Given the description of an element on the screen output the (x, y) to click on. 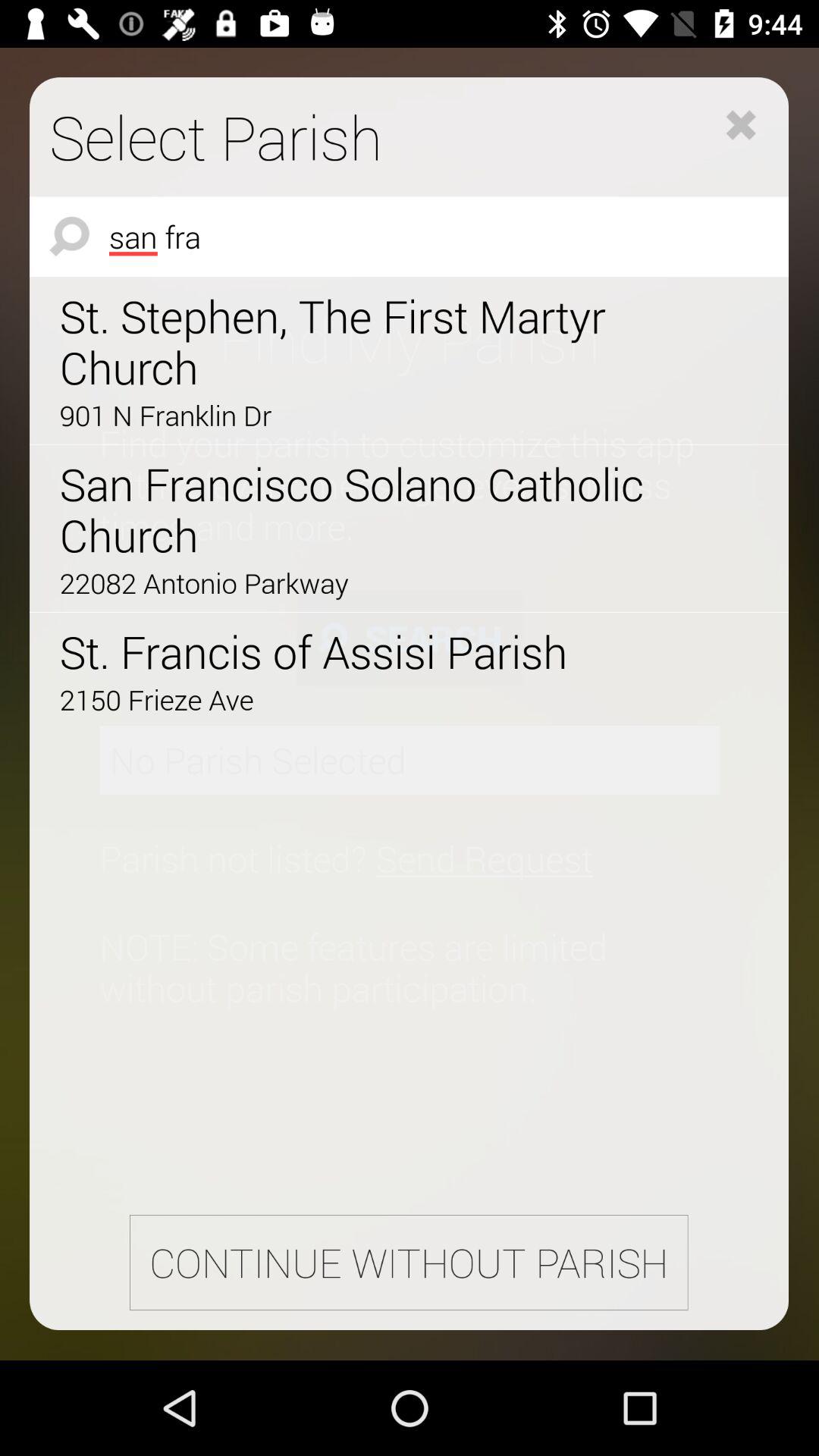
turn on item below 2150 frieze ave icon (408, 1262)
